Given the description of an element on the screen output the (x, y) to click on. 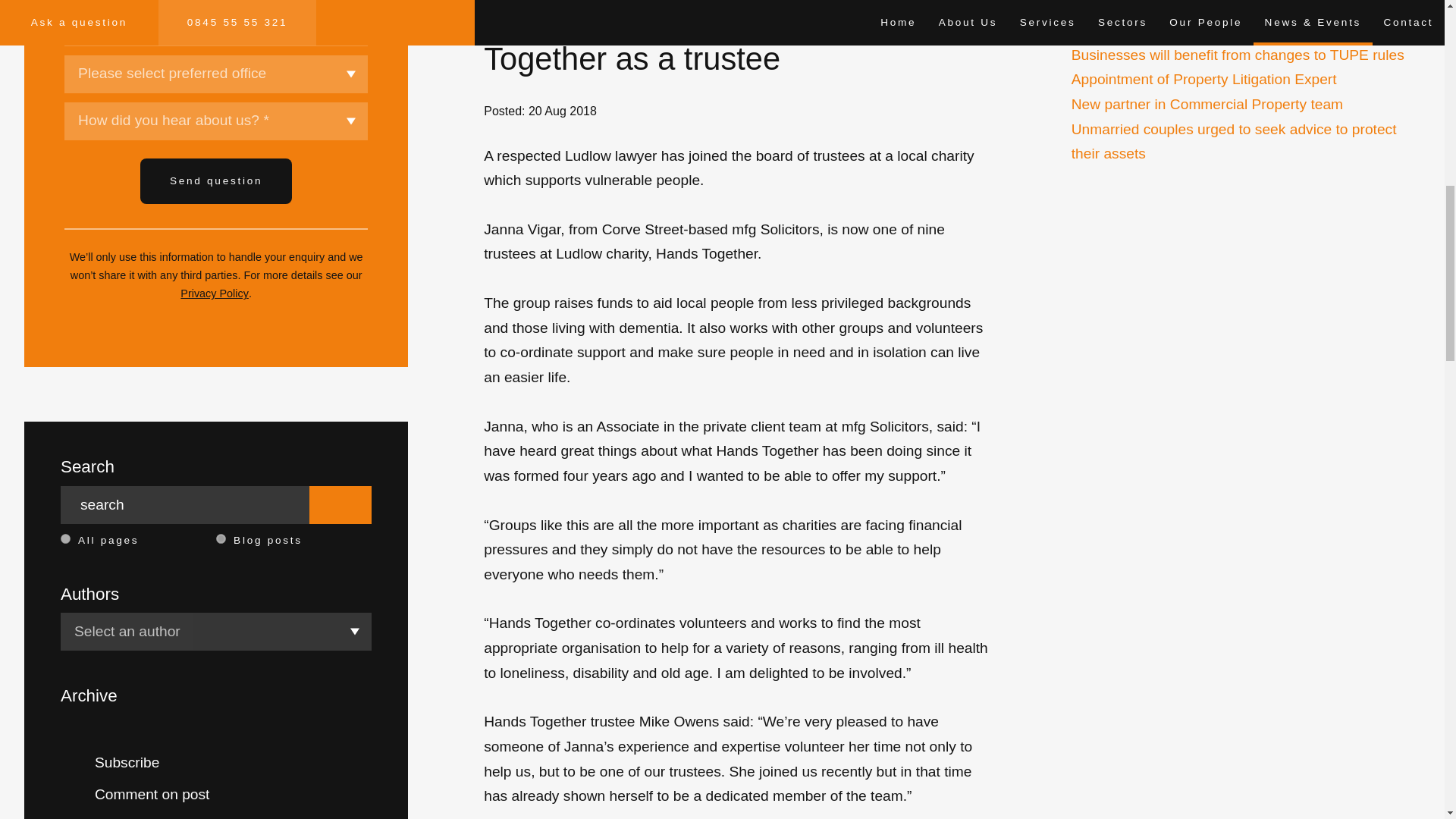
Send question (215, 180)
blogs (220, 538)
blogs (220, 538)
search (184, 505)
all pages (65, 538)
all pages (65, 538)
search (184, 505)
